Given the description of an element on the screen output the (x, y) to click on. 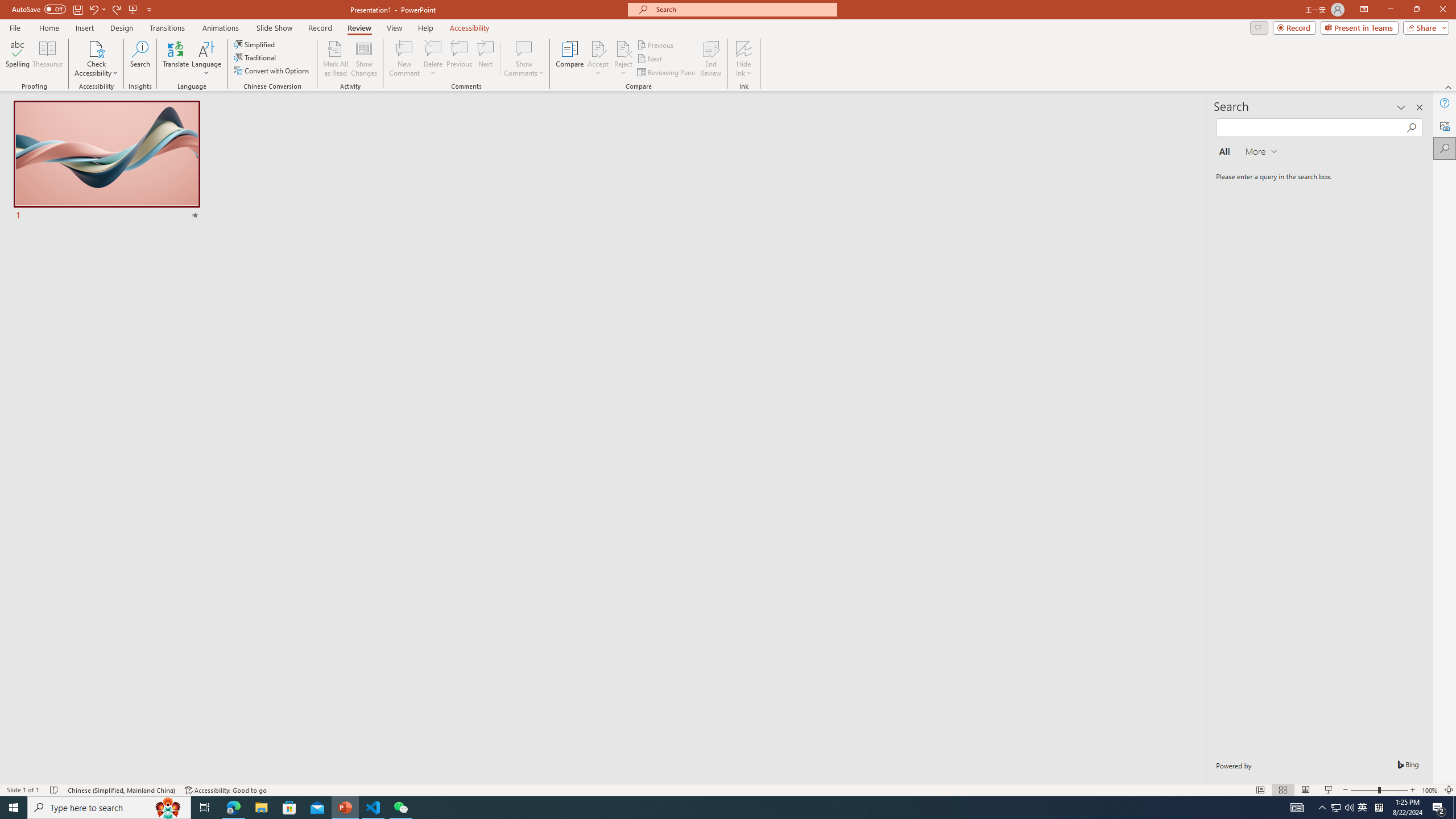
Show Comments (524, 58)
Zoom 100% (1430, 790)
Previous (655, 44)
Alt Text (1444, 125)
Convert with Options... (272, 69)
